Given the description of an element on the screen output the (x, y) to click on. 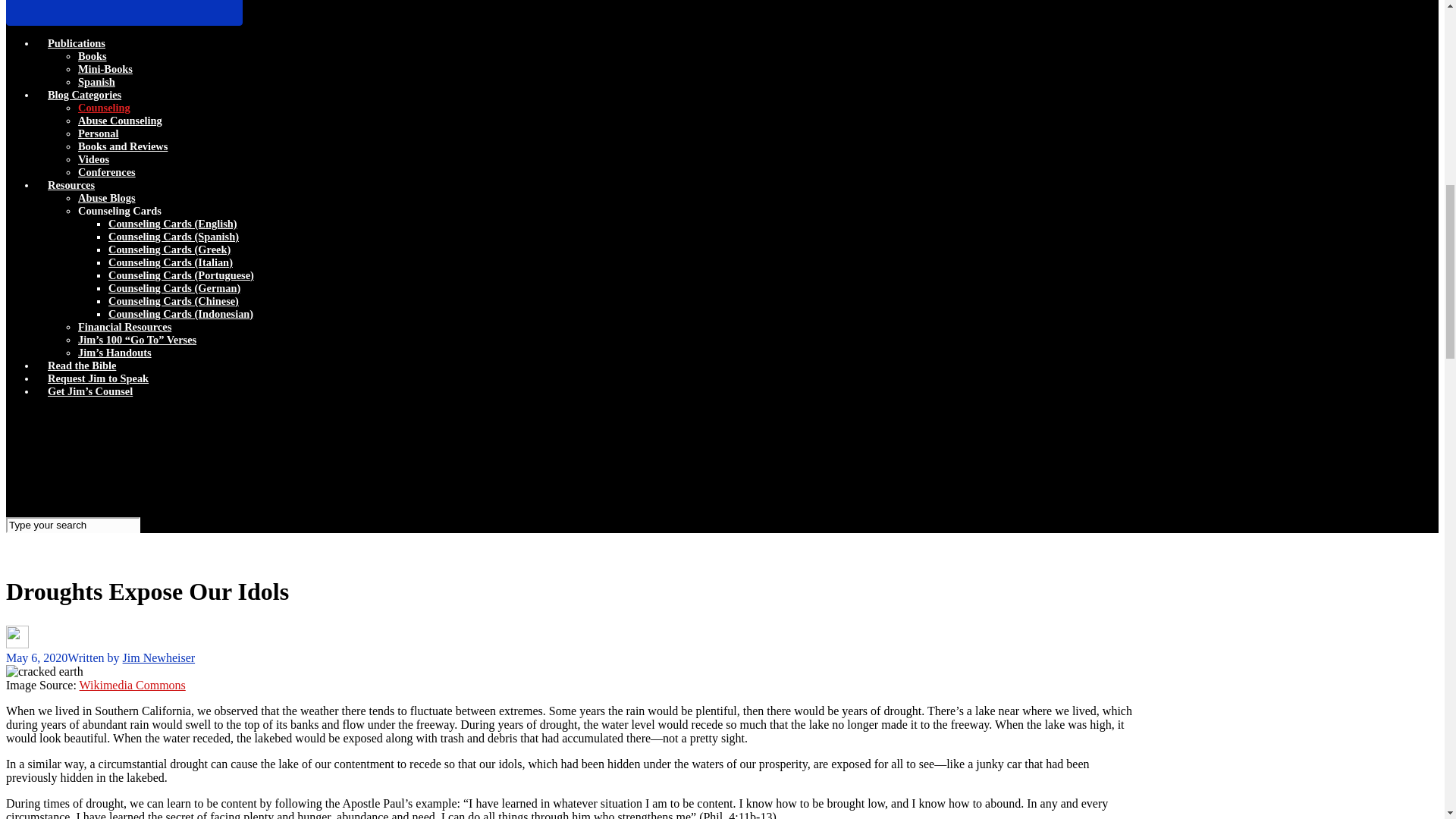
Blog Categories (84, 94)
Books (92, 55)
Publications (76, 42)
Spanish (96, 81)
Mini-Books (105, 69)
View all posts by Jim Newheiser (158, 657)
